Given the description of an element on the screen output the (x, y) to click on. 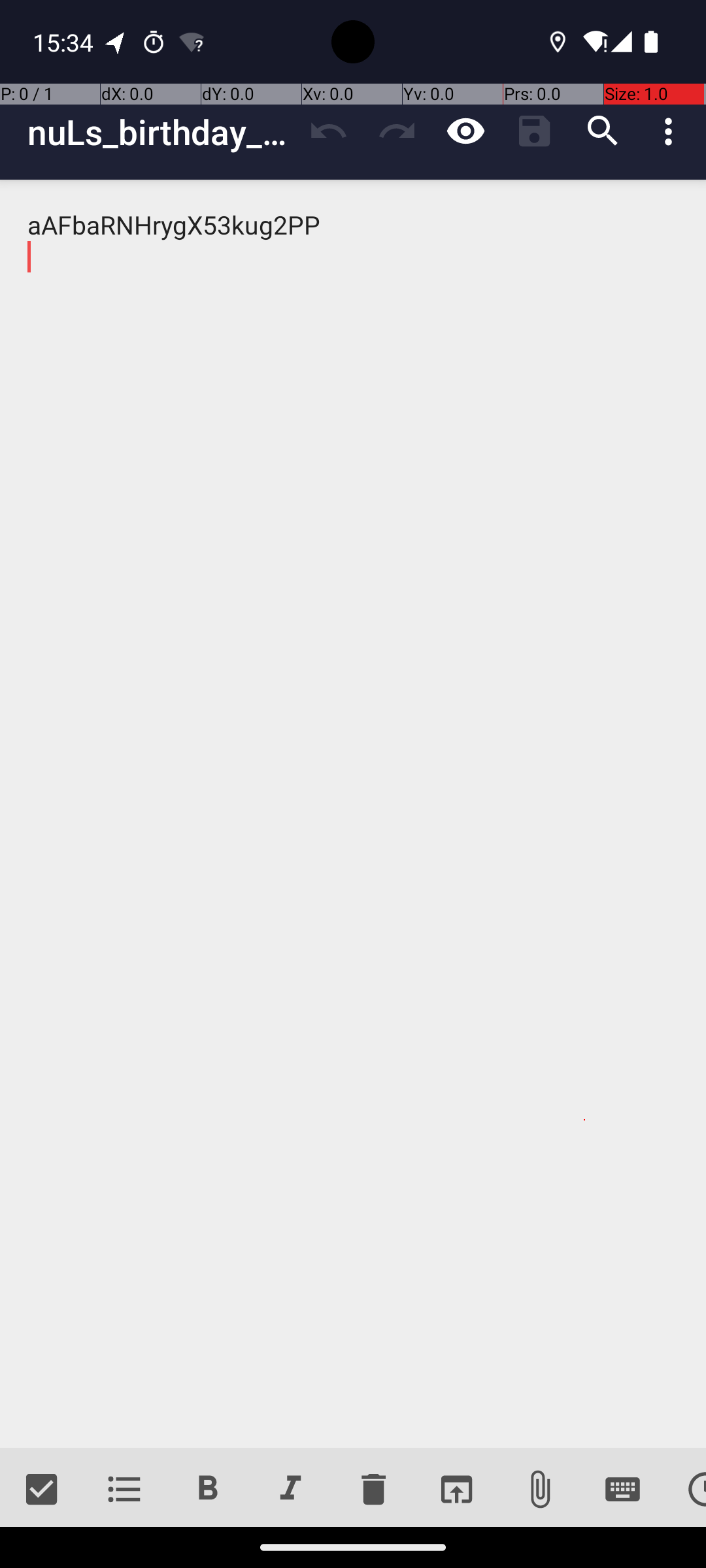
nuLs_birthday_gift_ideas_mom Element type: android.widget.TextView (160, 131)
aAFbaRNHrygX53kug2PP
 Element type: android.widget.EditText (353, 813)
